Given the description of an element on the screen output the (x, y) to click on. 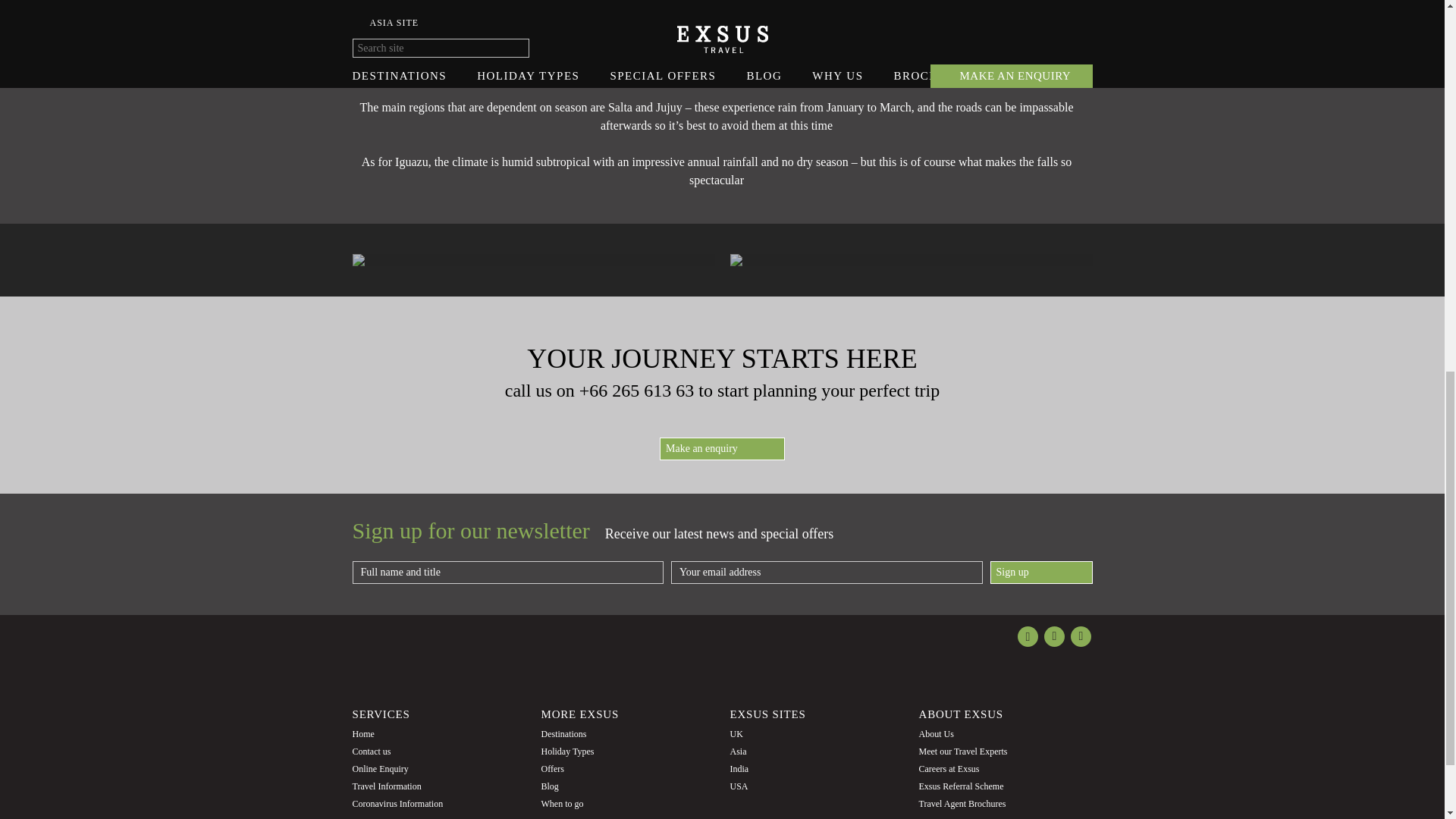
Coronavirus Information (397, 803)
Online Enquiry (379, 768)
Blog (550, 786)
SERVICES (380, 714)
Travel Information (386, 786)
Destinations (563, 733)
Make an enquiry (721, 448)
EXSUS SITES (767, 714)
MORE EXSUS (580, 714)
UK (735, 733)
